Given the description of an element on the screen output the (x, y) to click on. 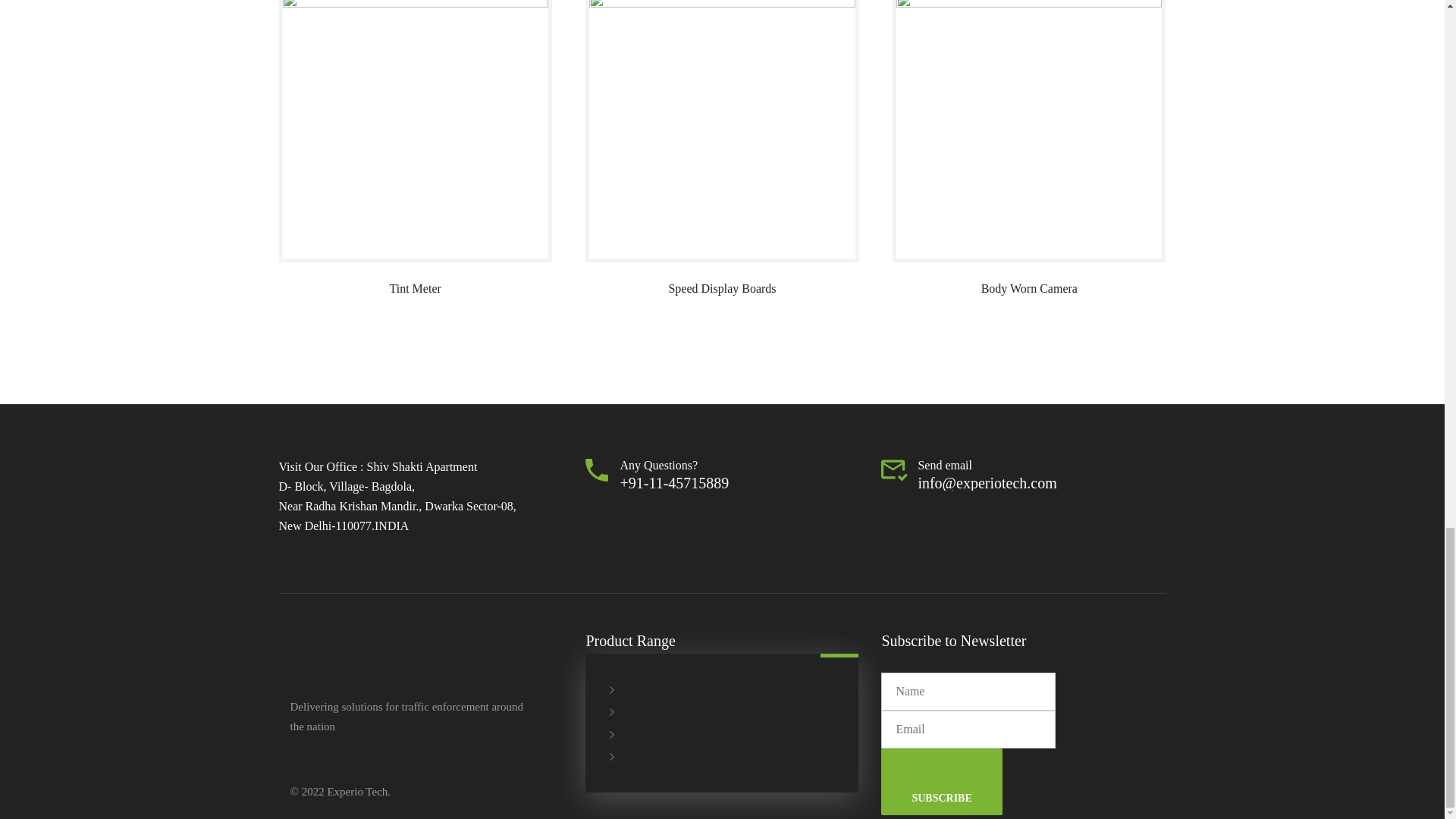
Breath Analyzers (651, 690)
SUBSCRIBE (940, 781)
Body Worn Camera (1029, 148)
Traffic Enforcement (657, 755)
Laser Speed Gun (651, 734)
Fixed Radar System (657, 712)
Speed Display Boards (722, 148)
Tint Meter (415, 148)
